Given the description of an element on the screen output the (x, y) to click on. 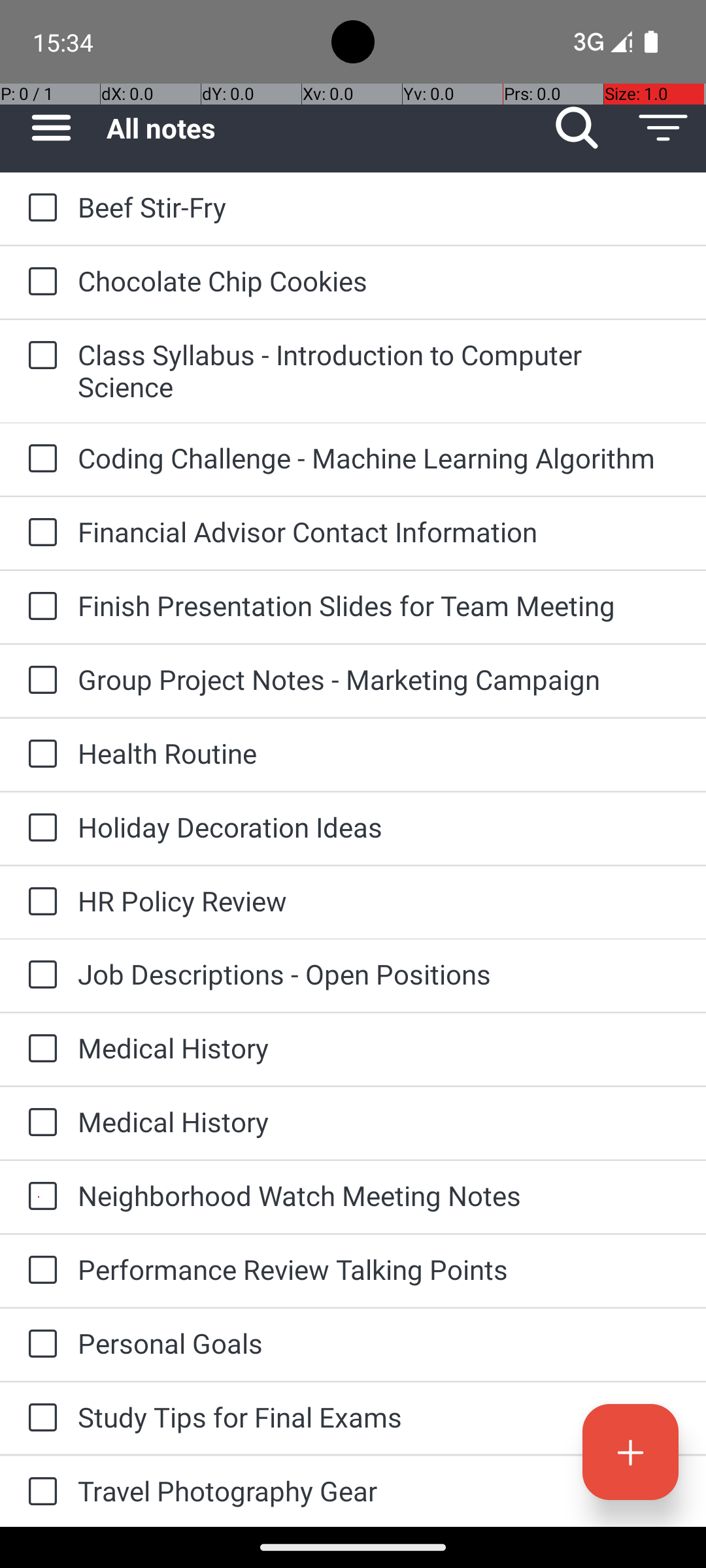
to-do: Beef Stir-Fry Element type: android.widget.CheckBox (38, 208)
Beef Stir-Fry Element type: android.widget.TextView (378, 206)
to-do: Chocolate Chip Cookies Element type: android.widget.CheckBox (38, 282)
Chocolate Chip Cookies Element type: android.widget.TextView (378, 280)
to-do: Class Syllabus - Introduction to Computer Science Element type: android.widget.CheckBox (38, 356)
Class Syllabus - Introduction to Computer Science Element type: android.widget.TextView (378, 370)
to-do: Coding Challenge - Machine Learning Algorithm Element type: android.widget.CheckBox (38, 459)
Coding Challenge - Machine Learning Algorithm Element type: android.widget.TextView (378, 457)
to-do: Finish Presentation Slides for Team Meeting Element type: android.widget.CheckBox (38, 606)
Finish Presentation Slides for Team Meeting Element type: android.widget.TextView (378, 604)
to-do: Group Project Notes - Marketing Campaign Element type: android.widget.CheckBox (38, 680)
Group Project Notes - Marketing Campaign Element type: android.widget.TextView (378, 678)
to-do: Health Routine Element type: android.widget.CheckBox (38, 754)
Health Routine Element type: android.widget.TextView (378, 752)
to-do: Holiday Decoration Ideas Element type: android.widget.CheckBox (38, 828)
Holiday Decoration Ideas Element type: android.widget.TextView (378, 826)
to-do: HR Policy Review Element type: android.widget.CheckBox (38, 902)
HR Policy Review Element type: android.widget.TextView (378, 900)
to-do: Job Descriptions - Open Positions Element type: android.widget.CheckBox (38, 975)
Job Descriptions - Open Positions Element type: android.widget.TextView (378, 973)
to-do: Medical History Element type: android.widget.CheckBox (38, 1049)
Medical History Element type: android.widget.TextView (378, 1047)
to-do: Neighborhood Watch Meeting Notes Element type: android.widget.CheckBox (38, 1196)
Neighborhood Watch Meeting Notes Element type: android.widget.TextView (378, 1194)
to-do: Performance Review Talking Points Element type: android.widget.CheckBox (38, 1270)
Performance Review Talking Points Element type: android.widget.TextView (378, 1268)
to-do: Personal Goals Element type: android.widget.CheckBox (38, 1344)
Personal Goals Element type: android.widget.TextView (378, 1342)
to-do: Study Tips for Final Exams Element type: android.widget.CheckBox (38, 1418)
Study Tips for Final Exams Element type: android.widget.TextView (378, 1416)
to-do: Travel Photography Gear Element type: android.widget.CheckBox (38, 1491)
Travel Photography Gear Element type: android.widget.TextView (378, 1490)
